Given the description of an element on the screen output the (x, y) to click on. 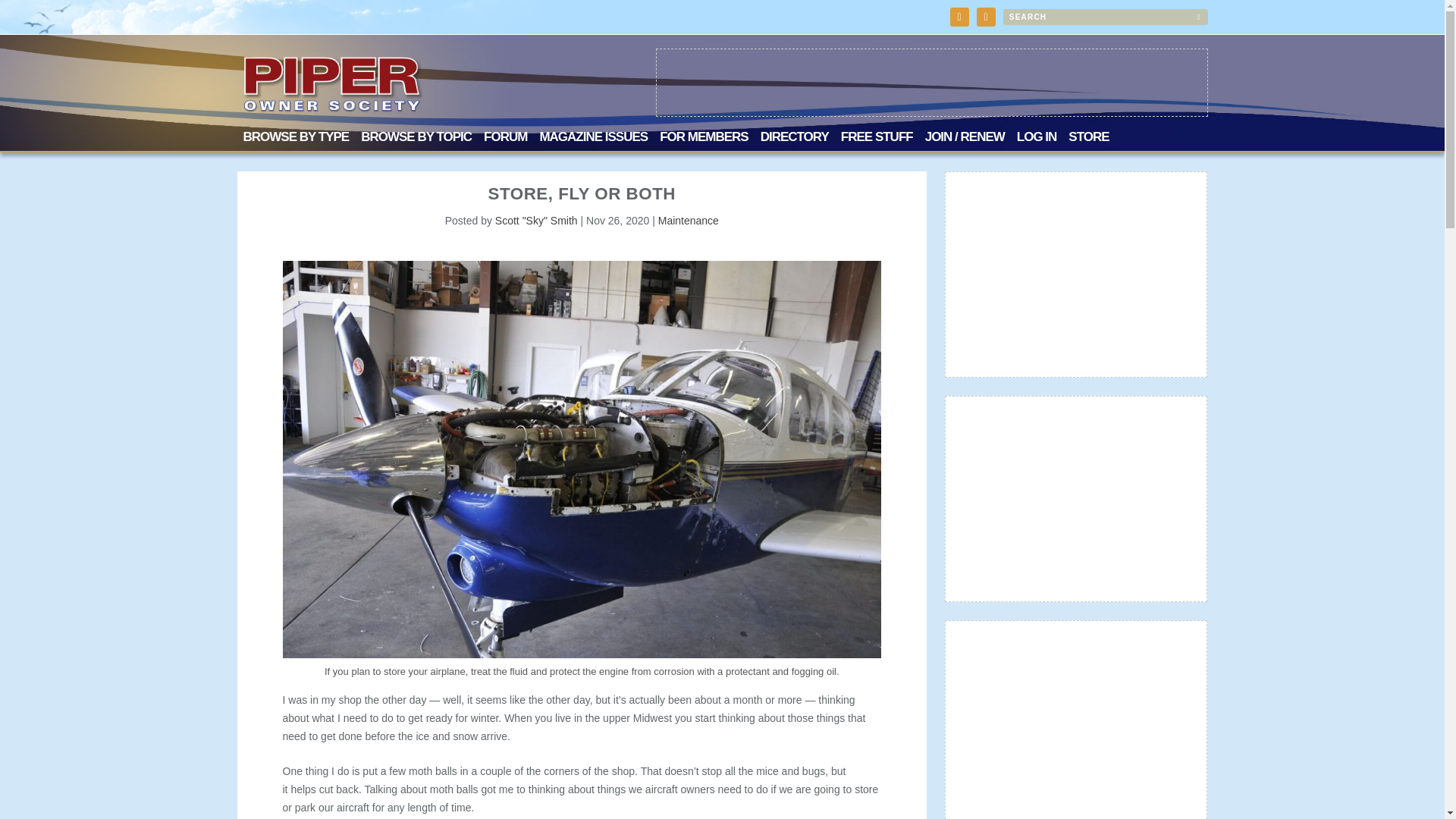
FOR MEMBERS (703, 140)
STORE (1088, 140)
Maintenance (688, 220)
Search for: (1105, 17)
MAGAZINE ISSUES (592, 140)
LOG IN (1036, 140)
BROWSE BY TOPIC (416, 140)
Posts by Scott "Sky" Smith (536, 220)
BROWSE BY TYPE (296, 140)
Scott "Sky" Smith (536, 220)
